Given the description of an element on the screen output the (x, y) to click on. 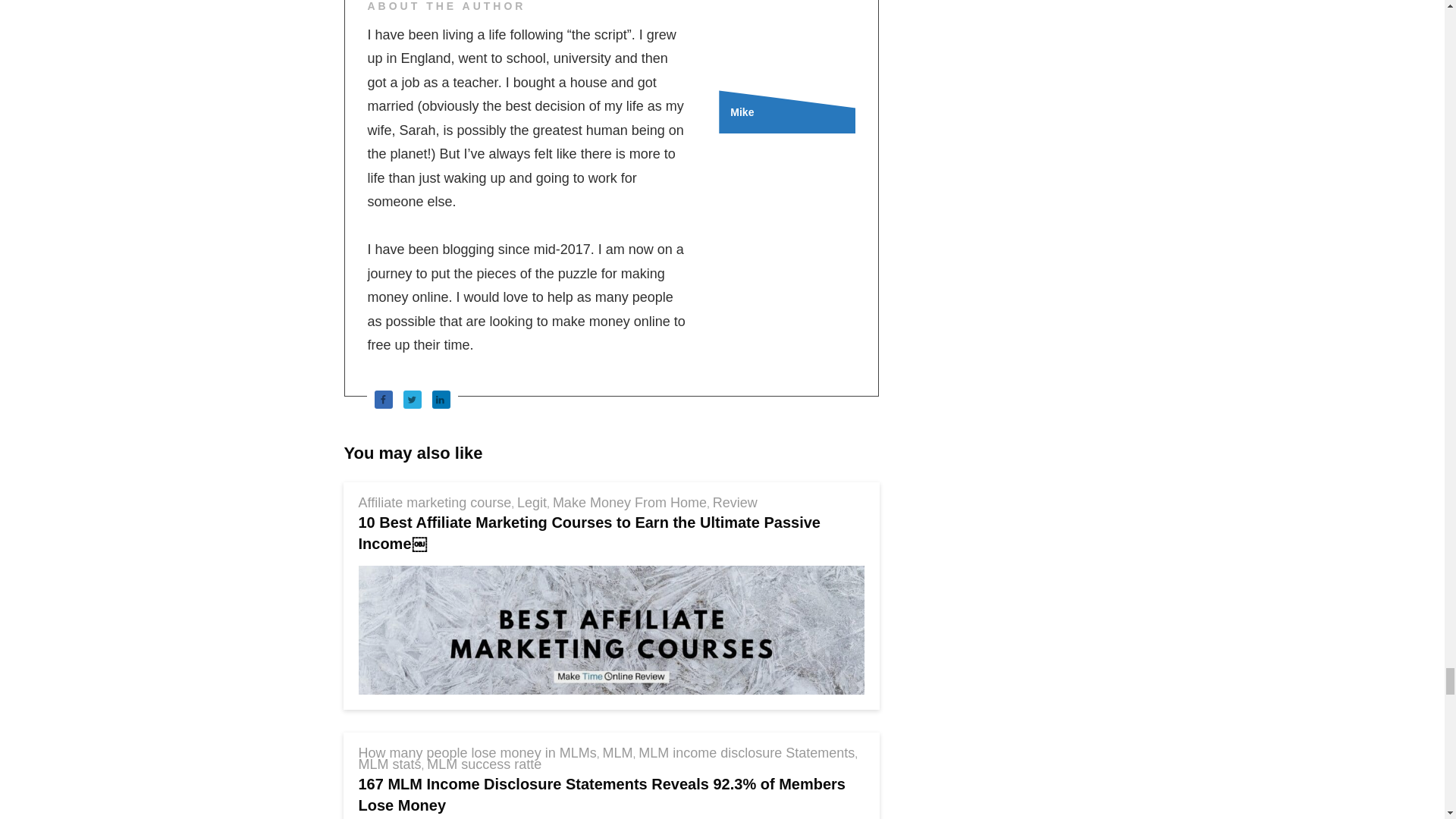
Legit (531, 502)
MLM (616, 752)
Affiliate marketing course (434, 502)
MLM (616, 752)
Legit (531, 502)
Review (735, 502)
MLM stats (389, 764)
MLM income disclosure Statements (746, 752)
Review (735, 502)
How many people lose money in MLMs (476, 752)
MLM success ratte (483, 764)
Make Money From Home (629, 502)
Make Money From Home (629, 502)
Affiliate marketing course (434, 502)
How many people lose money in MLMs (476, 752)
